Given the description of an element on the screen output the (x, y) to click on. 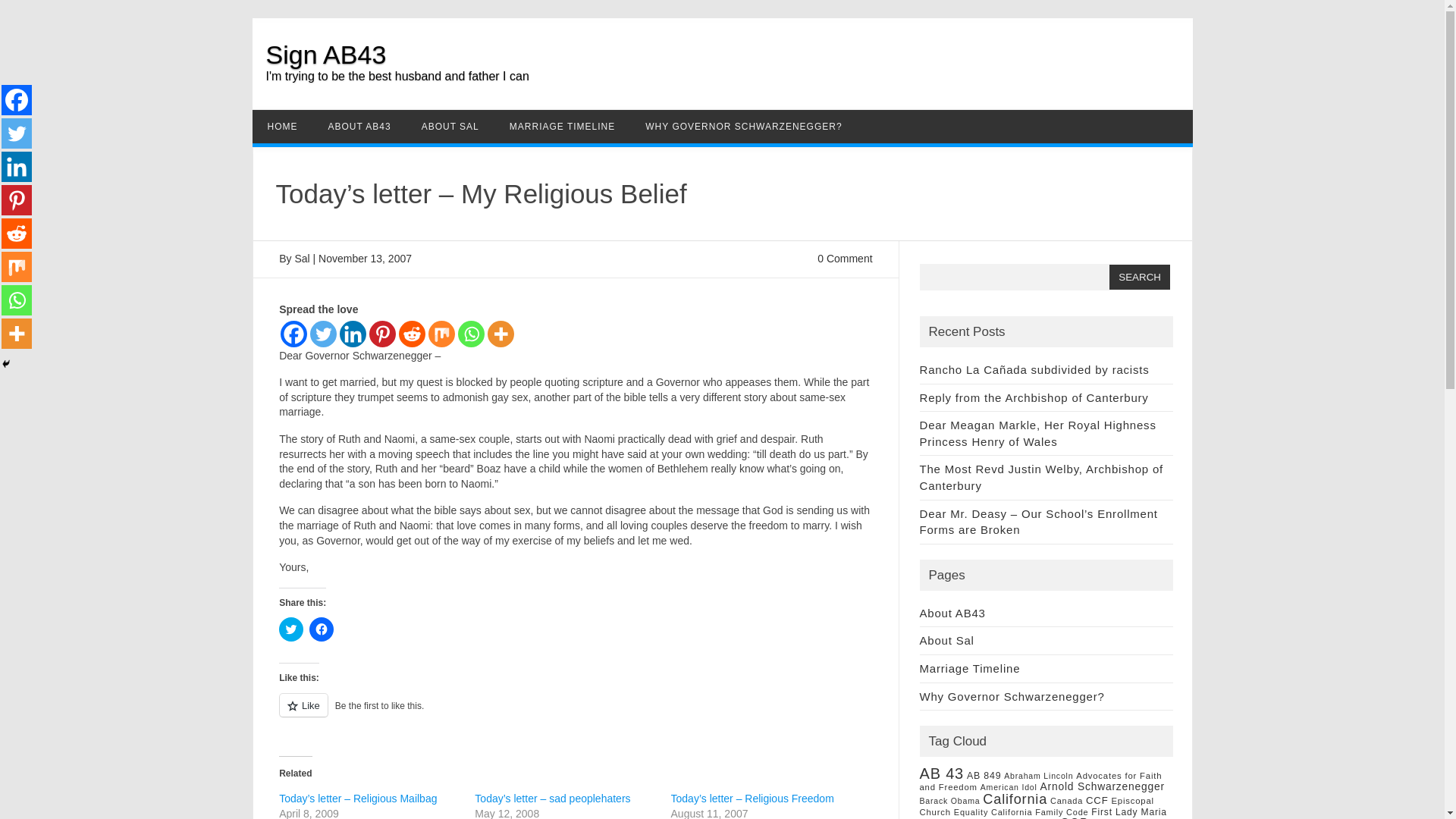
I'm trying to be the best husband and father I can (396, 85)
Linkedin (352, 334)
Sign AB43 (324, 54)
Sign AB43 (324, 54)
Mix (441, 334)
Search (1139, 276)
HOME (282, 126)
Skip to content (757, 113)
Facebook (294, 334)
0 Comment (844, 258)
